Given the description of an element on the screen output the (x, y) to click on. 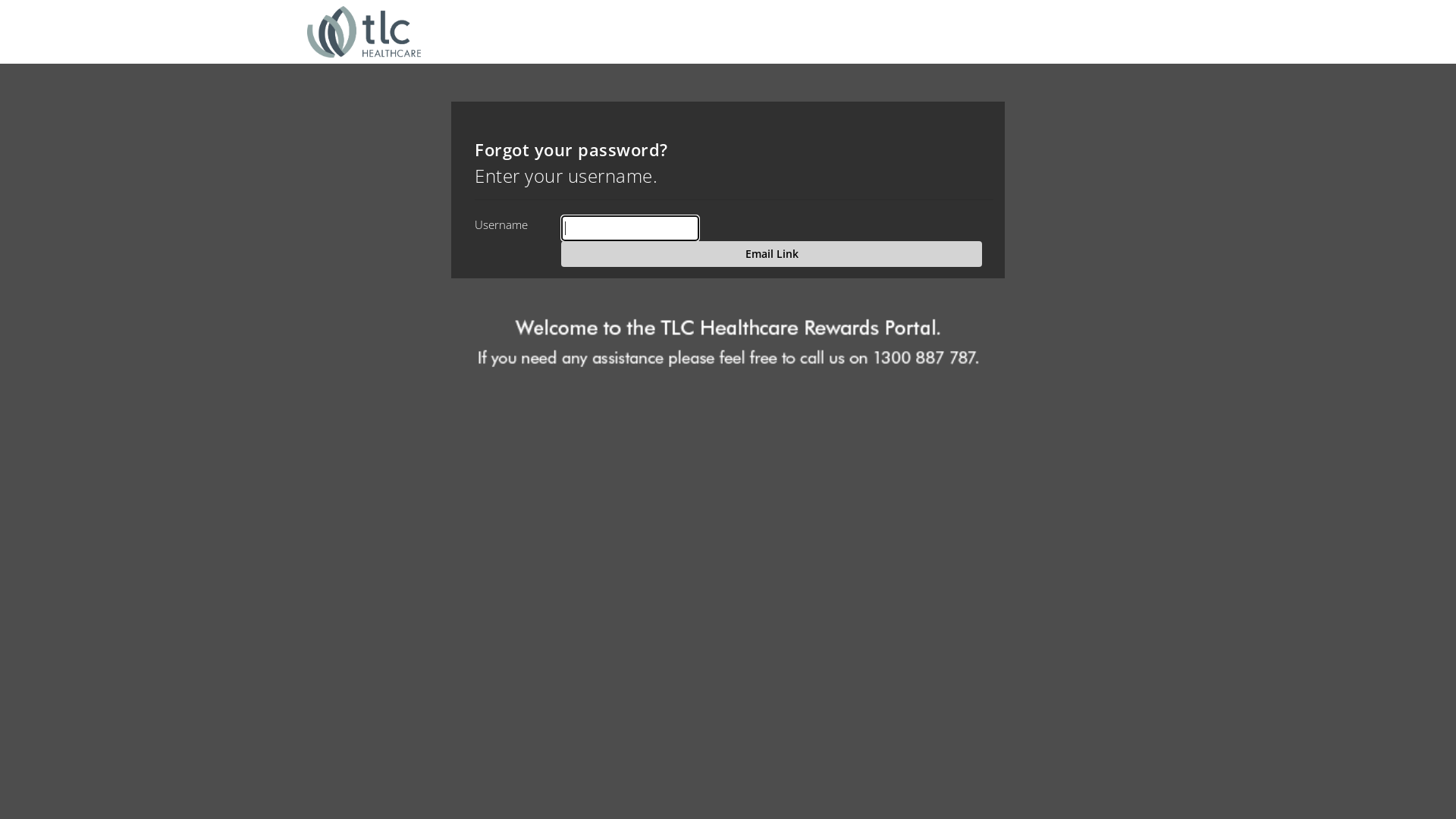
Email Link Element type: text (771, 253)
